Given the description of an element on the screen output the (x, y) to click on. 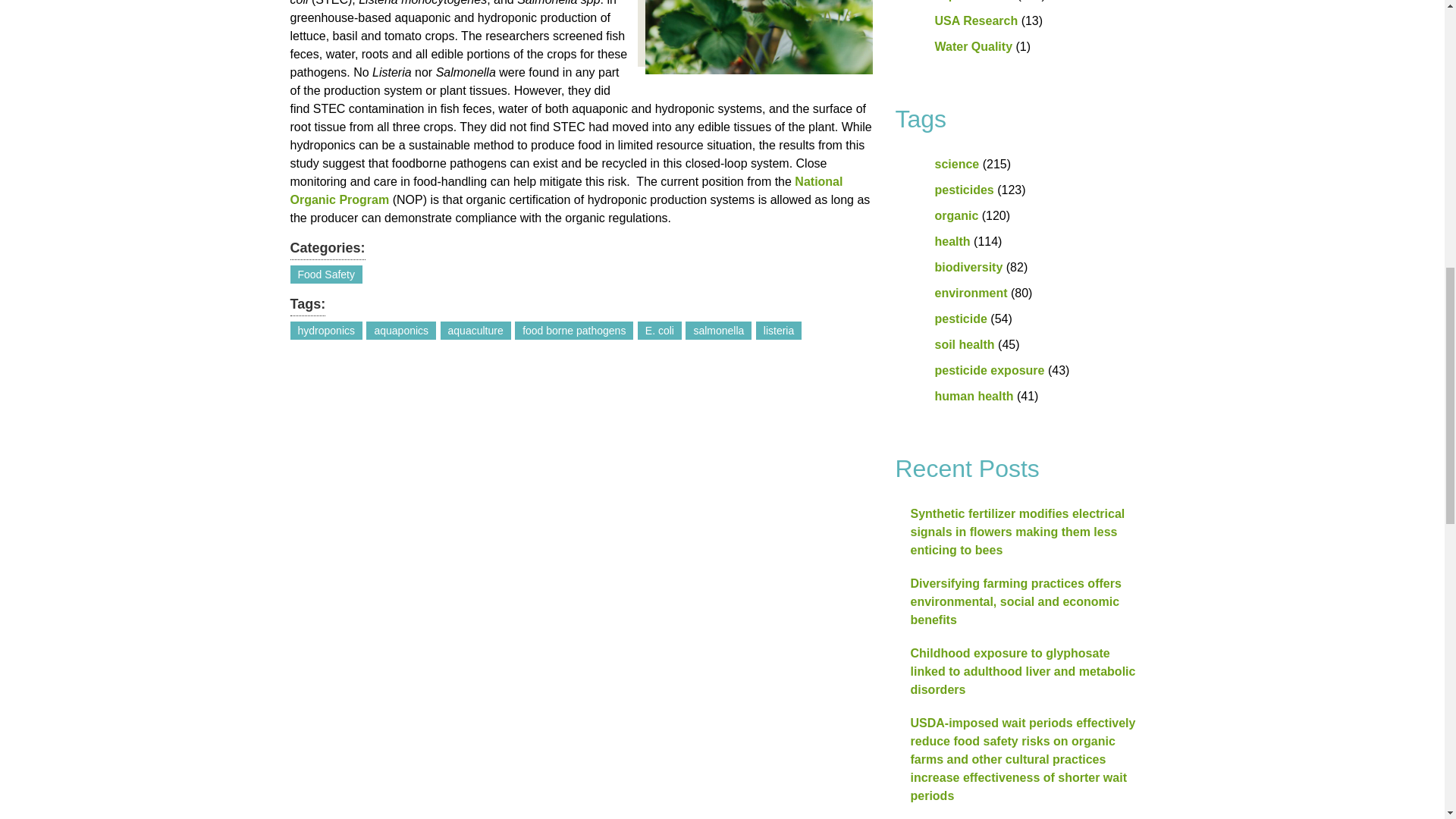
listeria (778, 330)
E. coli (659, 330)
National Organic Program (566, 190)
aquaponics (400, 330)
Food Safety (325, 274)
food borne pathogens (574, 330)
salmonella (718, 330)
aquaculture (476, 330)
hydroponics (325, 330)
